Given the description of an element on the screen output the (x, y) to click on. 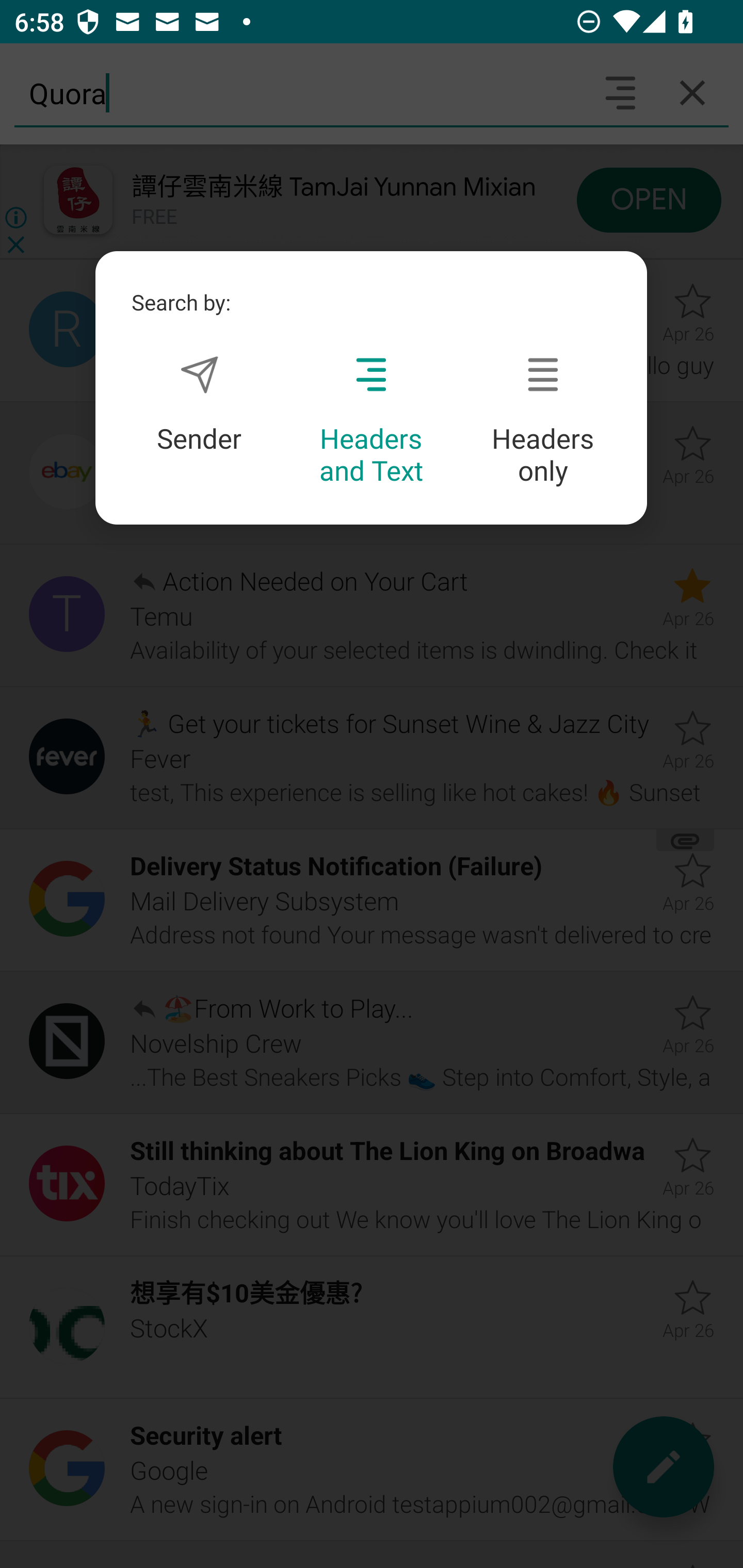
Sender (199, 404)
Headers and Text (371, 420)
Headers only (542, 420)
